Given the description of an element on the screen output the (x, y) to click on. 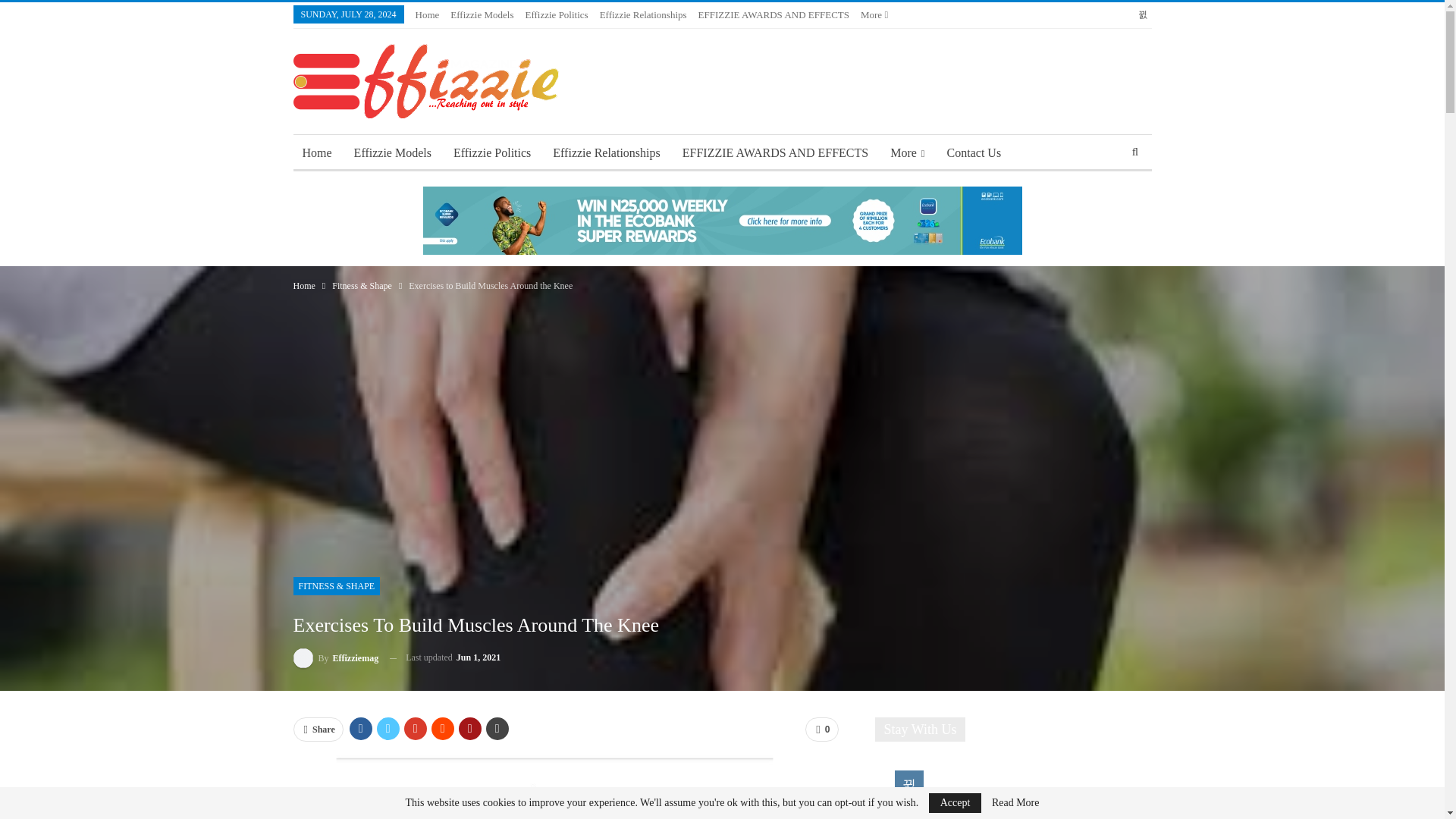
More (874, 14)
Effizzie Models (481, 14)
Effizzie Models (393, 153)
EFFIZZIE AWARDS AND EFFECTS (773, 14)
Effizzie Politics (556, 14)
Contact Us (973, 153)
Effizzie Relationships (605, 153)
0 (821, 729)
By Effizziemag (335, 657)
EFFIZZIE AWARDS AND EFFECTS (774, 153)
Home (303, 285)
Browse Author Articles (335, 657)
Home (426, 14)
Effizzie Politics (492, 153)
Home (316, 153)
